Given the description of an element on the screen output the (x, y) to click on. 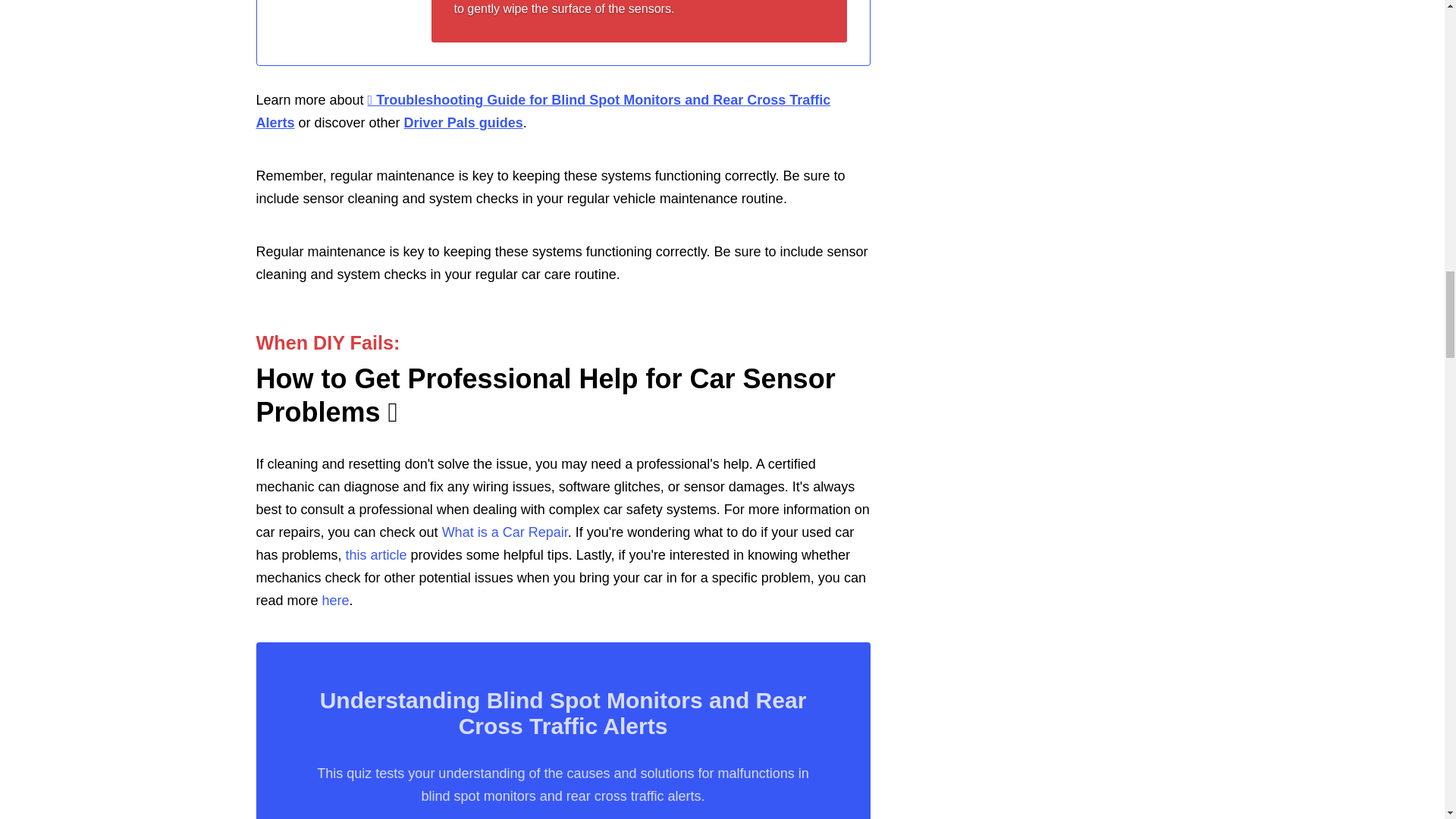
What is a Car Repair (504, 531)
What Should You Do If Your Used Car Has Problems (376, 554)
